Given the description of an element on the screen output the (x, y) to click on. 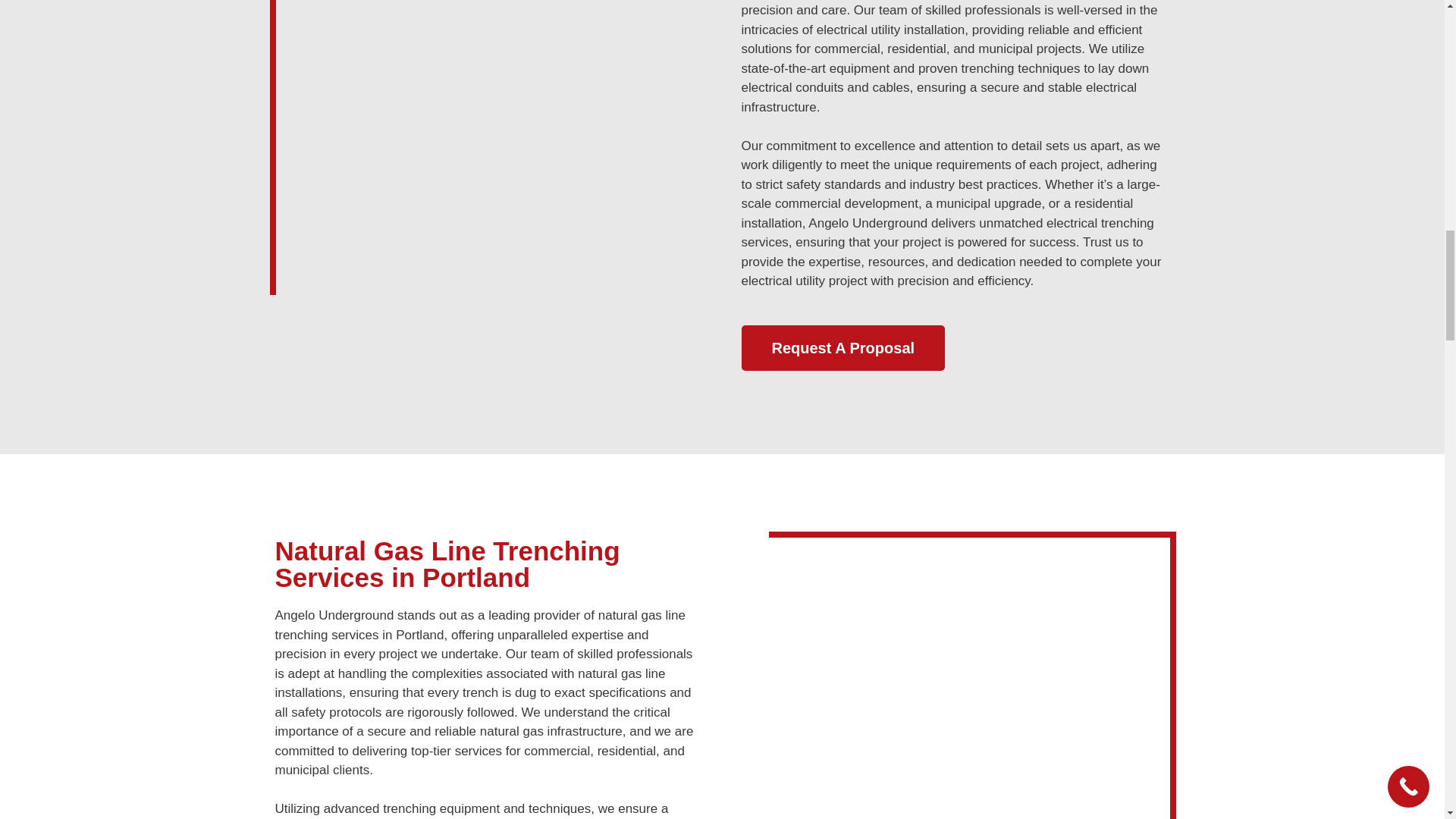
Request A Proposal (842, 348)
